Given the description of an element on the screen output the (x, y) to click on. 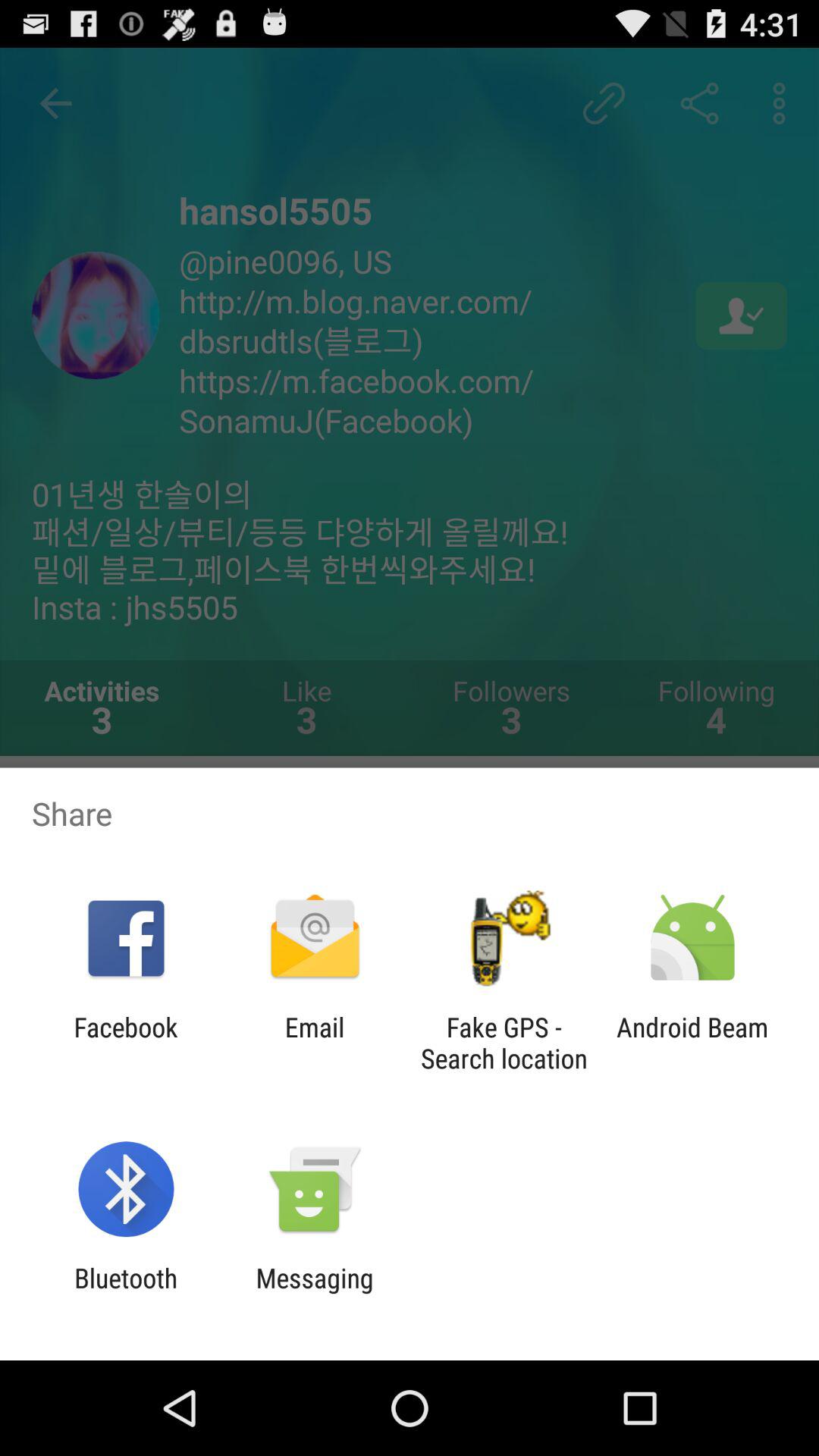
open bluetooth (125, 1293)
